Given the description of an element on the screen output the (x, y) to click on. 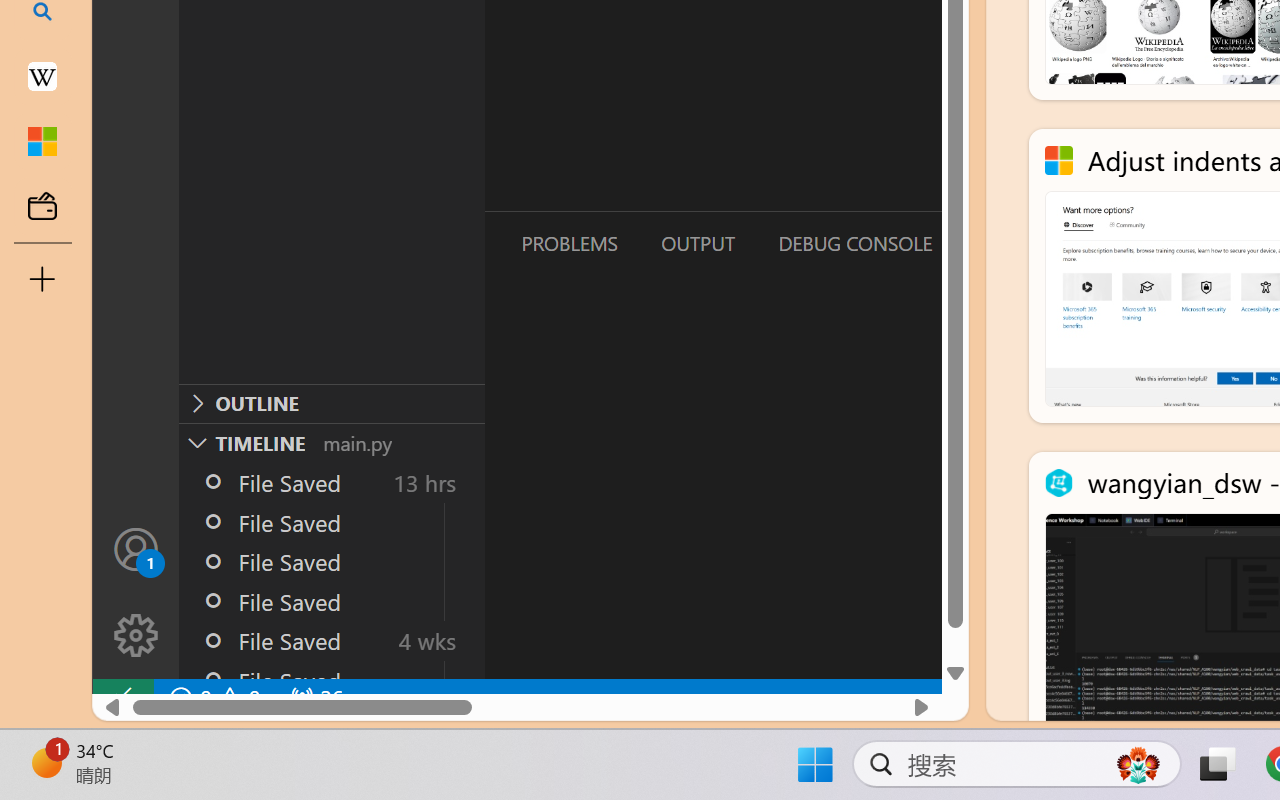
No Problems (212, 698)
Accounts - Sign in requested (135, 548)
Problems (Ctrl+Shift+M) (567, 243)
Outline Section (331, 403)
Earth - Wikipedia (42, 75)
